Given the description of an element on the screen output the (x, y) to click on. 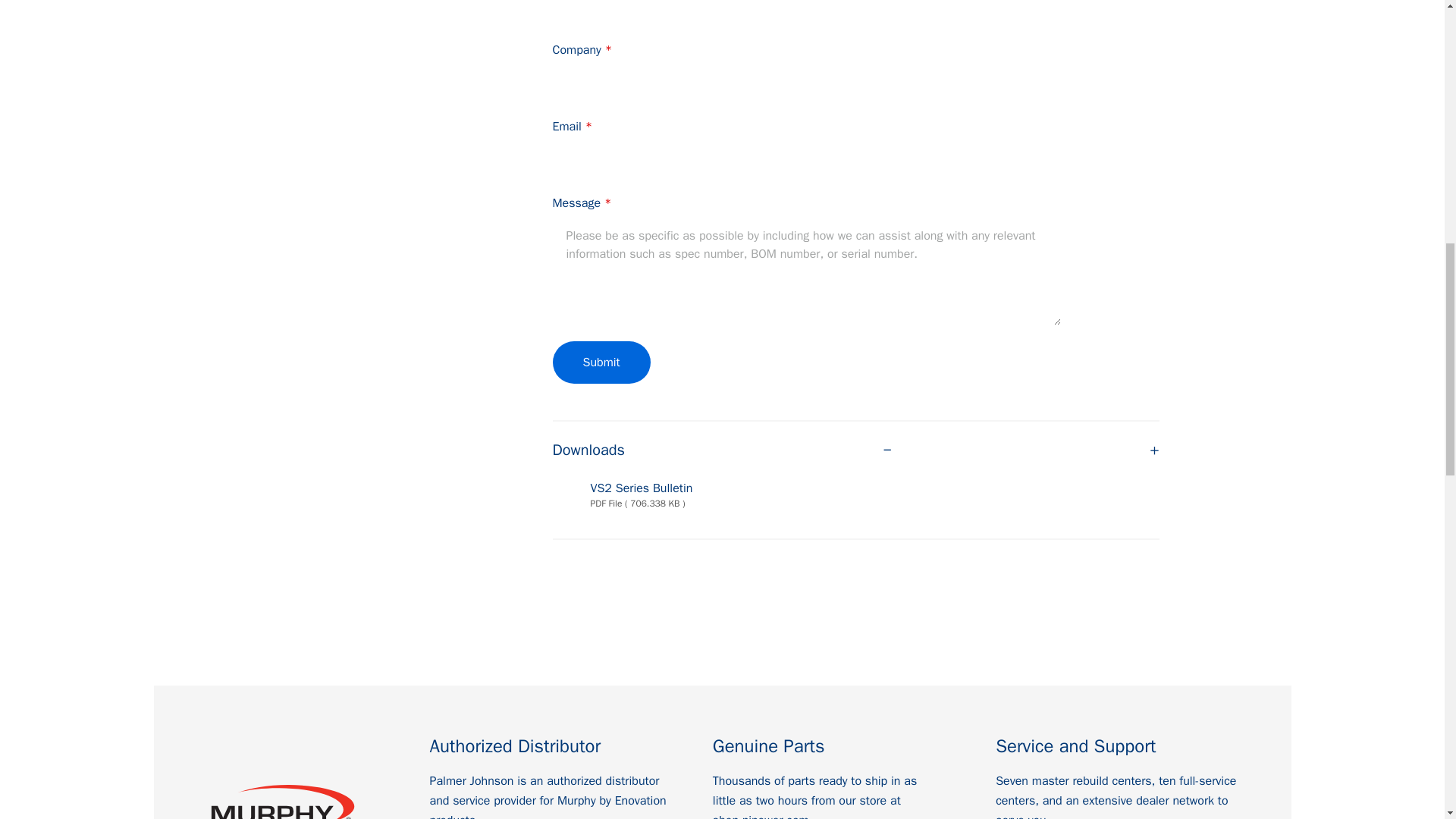
Submit (600, 362)
Visit Murphy by Enovation Website (282, 800)
